Given the description of an element on the screen output the (x, y) to click on. 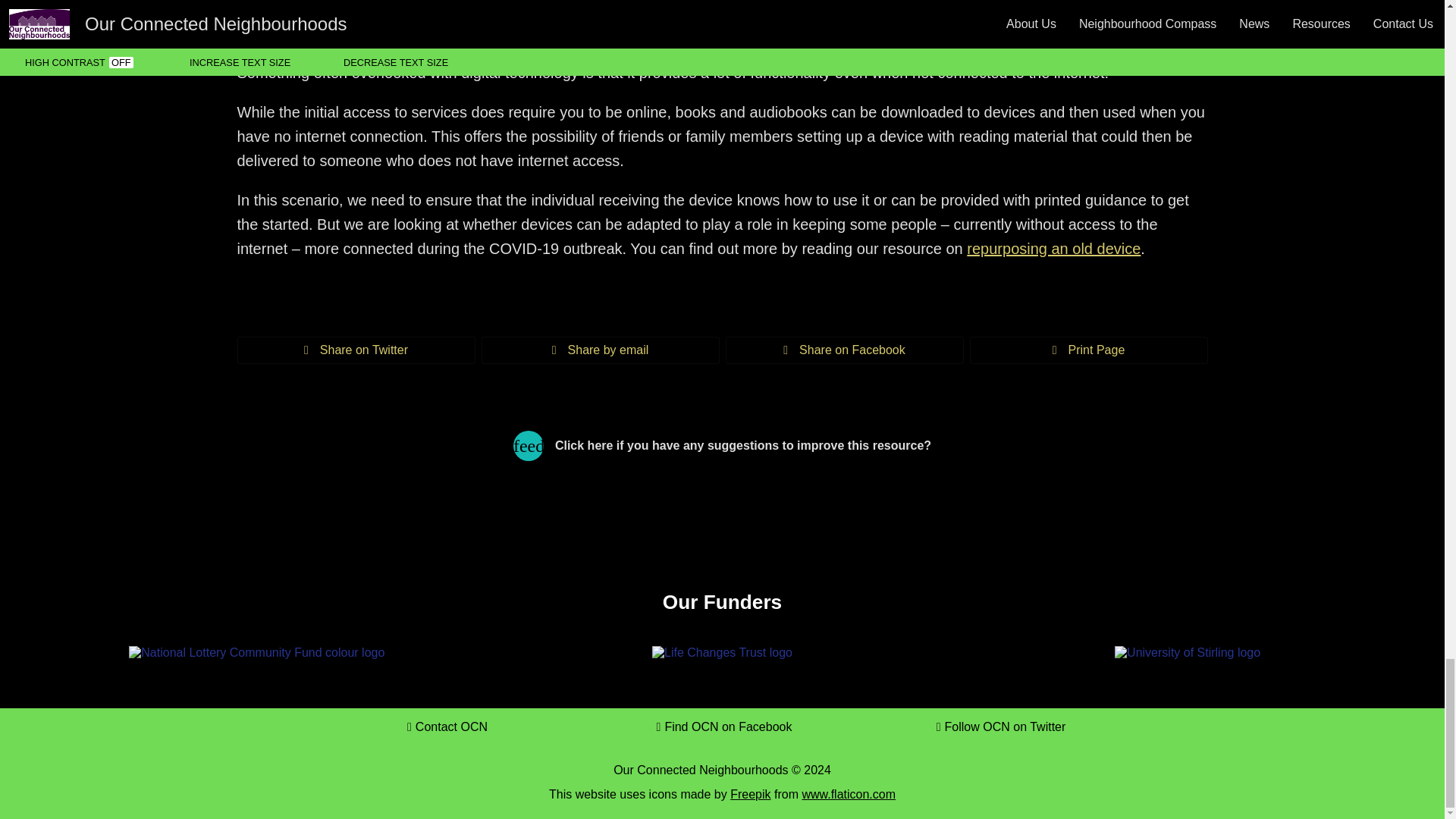
Share by email (599, 349)
Share on Facebook (843, 349)
Flaticon (848, 793)
repurposing an old device (1053, 248)
Share on Twitter (354, 349)
Freepik (750, 793)
